Given the description of an element on the screen output the (x, y) to click on. 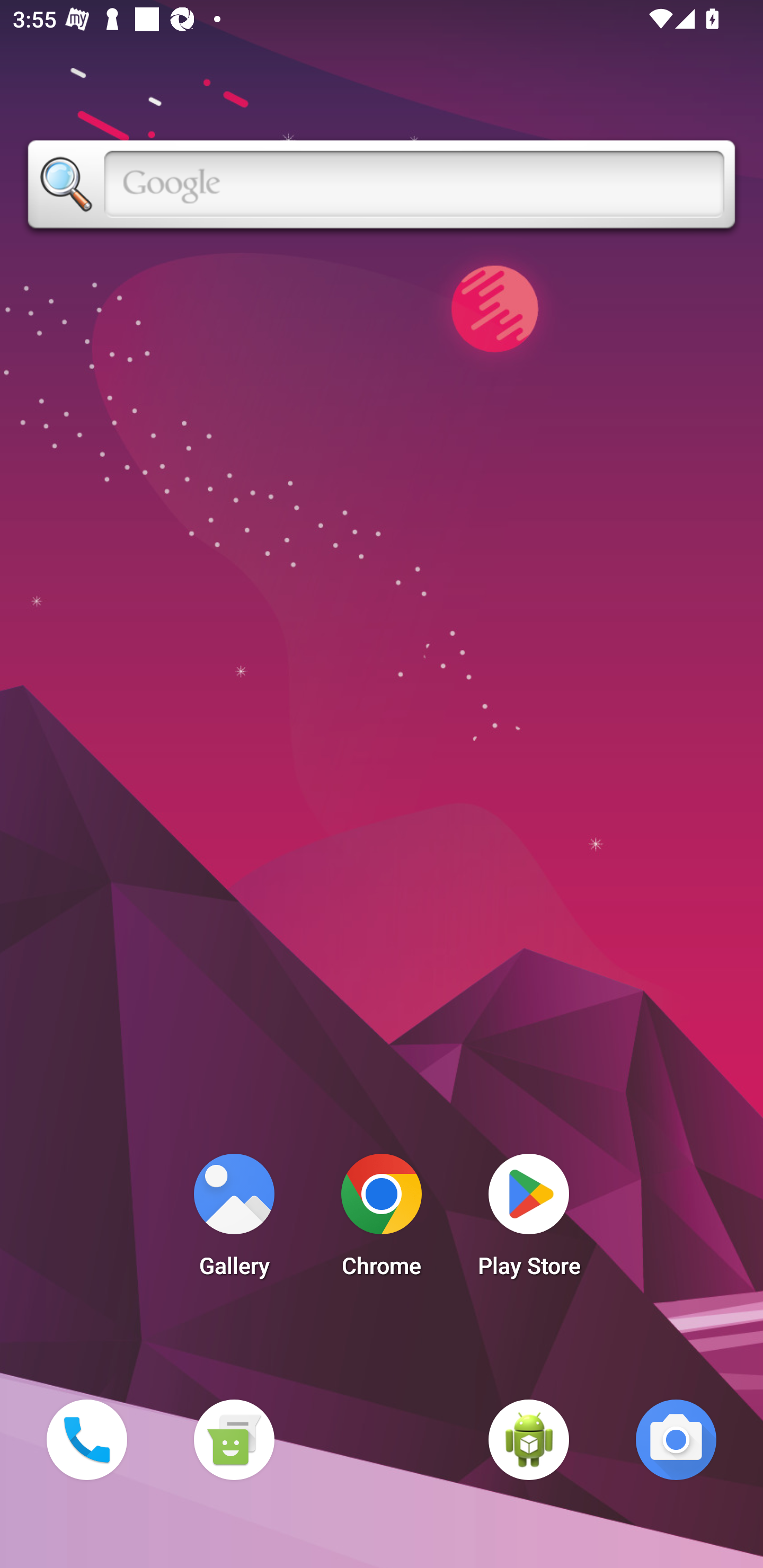
Gallery (233, 1220)
Chrome (381, 1220)
Play Store (528, 1220)
Phone (86, 1439)
Messaging (233, 1439)
WebView Browser Tester (528, 1439)
Camera (676, 1439)
